Given the description of an element on the screen output the (x, y) to click on. 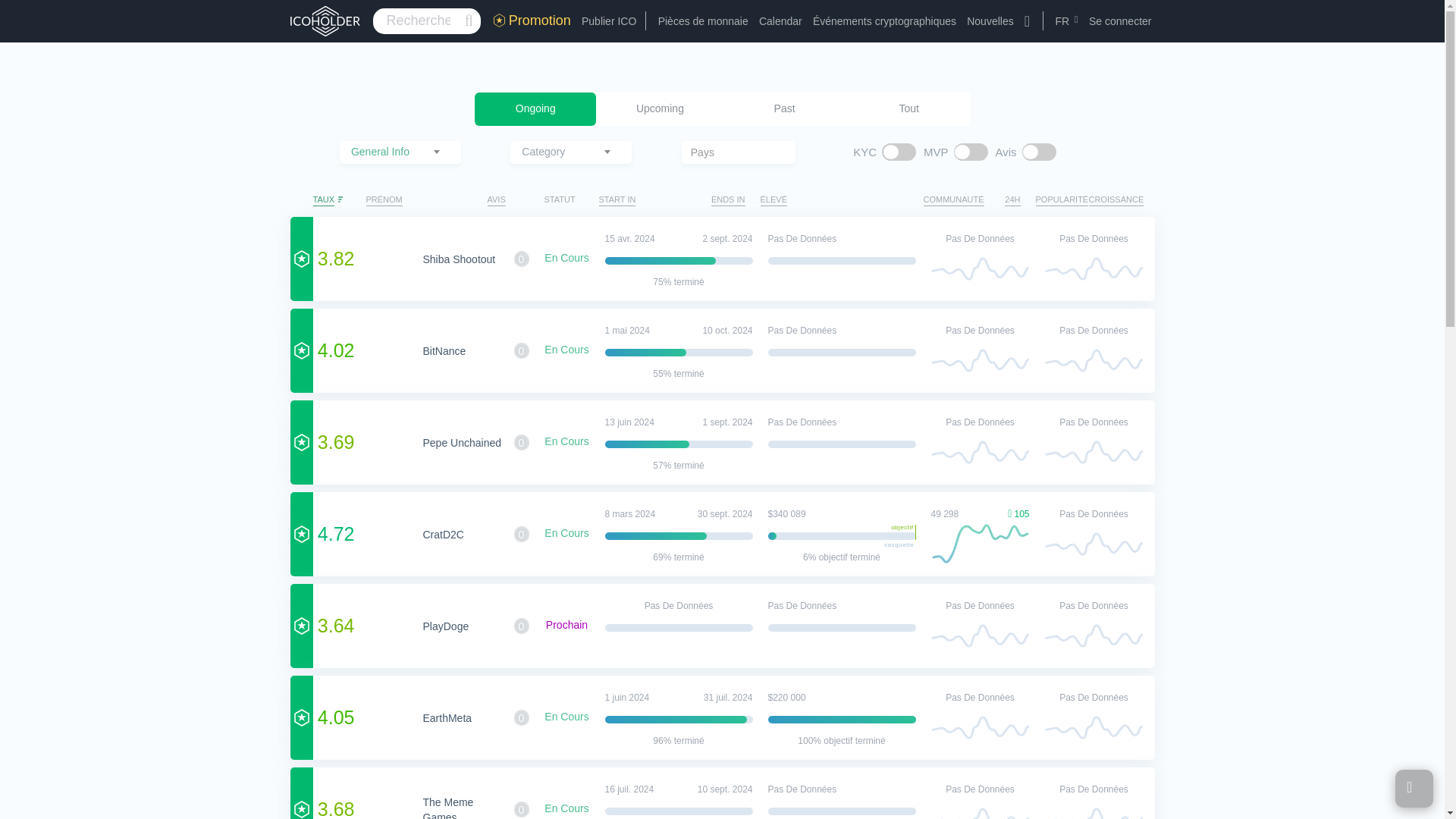
Se connecter (1120, 21)
Se connecter (1120, 21)
Tout (908, 109)
Nouvelles (989, 21)
Ongoing (534, 109)
Upcoming (659, 109)
General Info (400, 151)
Calendar (780, 21)
Publier ICO (608, 21)
Past (784, 109)
Promotion (531, 20)
FR (1067, 21)
